Given the description of an element on the screen output the (x, y) to click on. 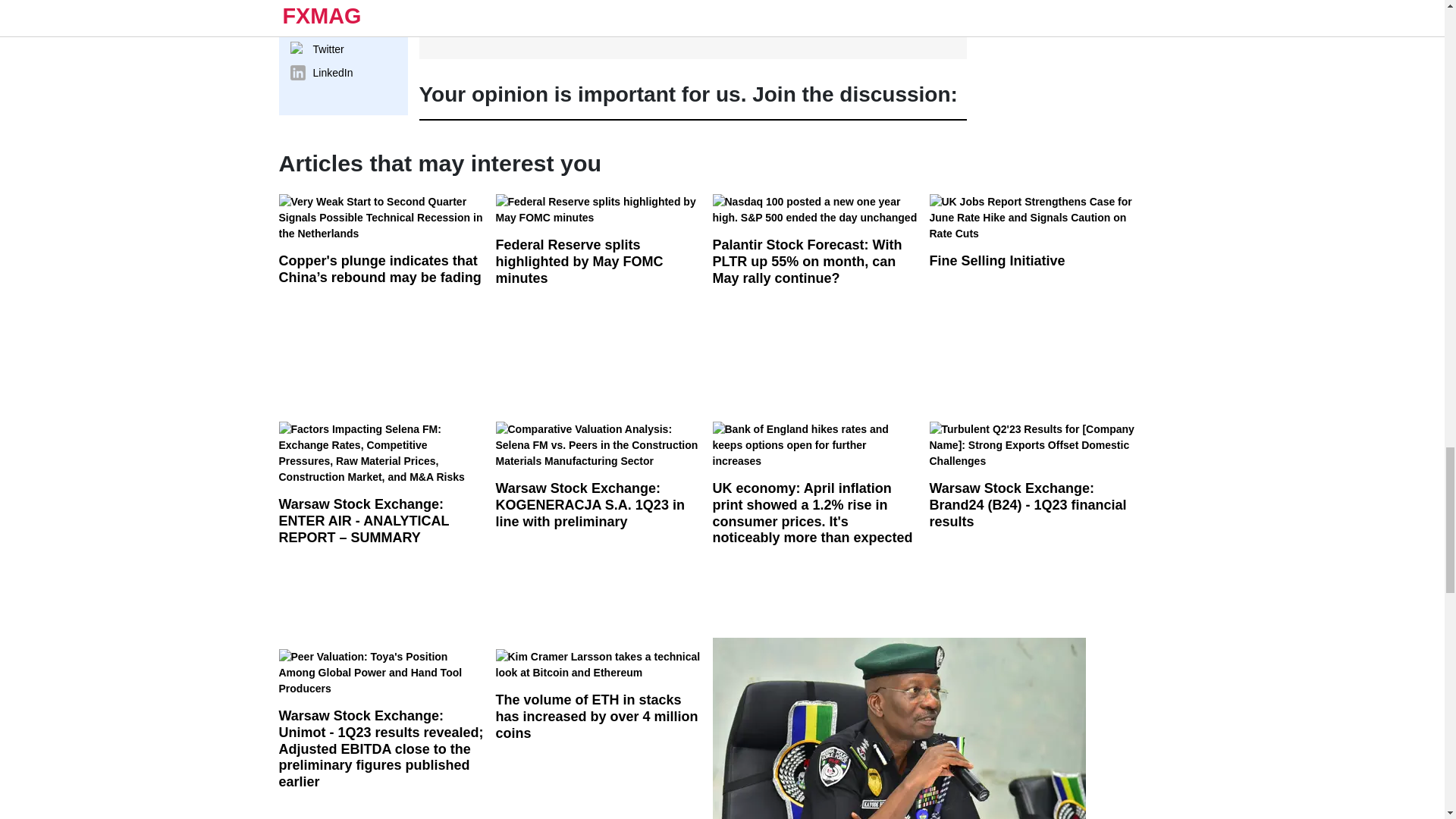
Fine Selling Initiative (1038, 223)
Federal Reserve splits highlighted by May FOMC minutes (604, 215)
Federal Reserve splits highlighted by May FOMC minutes (604, 248)
Fine Selling Initiative (1038, 243)
